Given the description of an element on the screen output the (x, y) to click on. 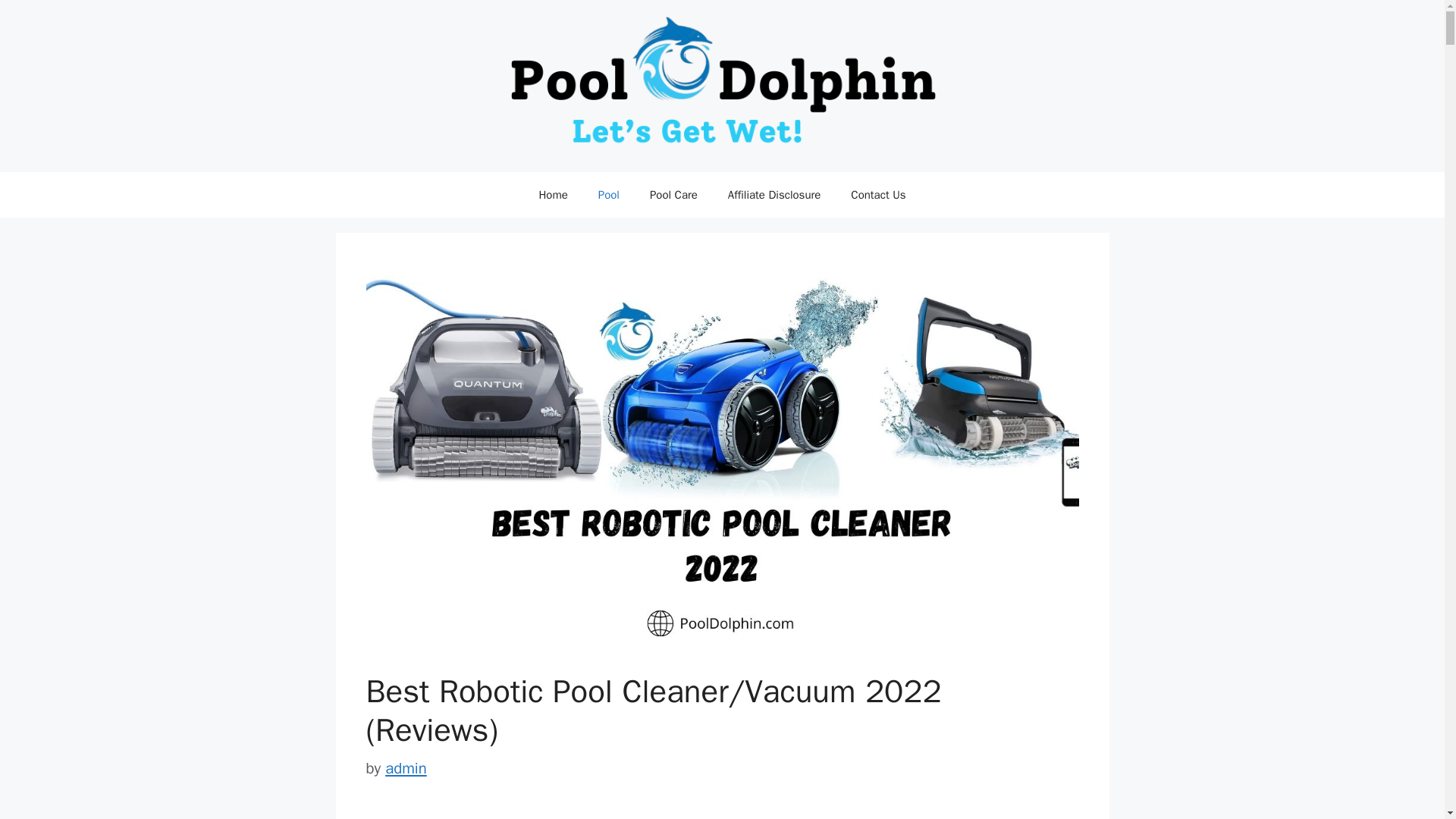
admin (405, 768)
Affiliate Disclosure (774, 194)
Pool Care (673, 194)
Pool (608, 194)
Contact Us (877, 194)
Home (552, 194)
View all posts by admin (405, 768)
